Given the description of an element on the screen output the (x, y) to click on. 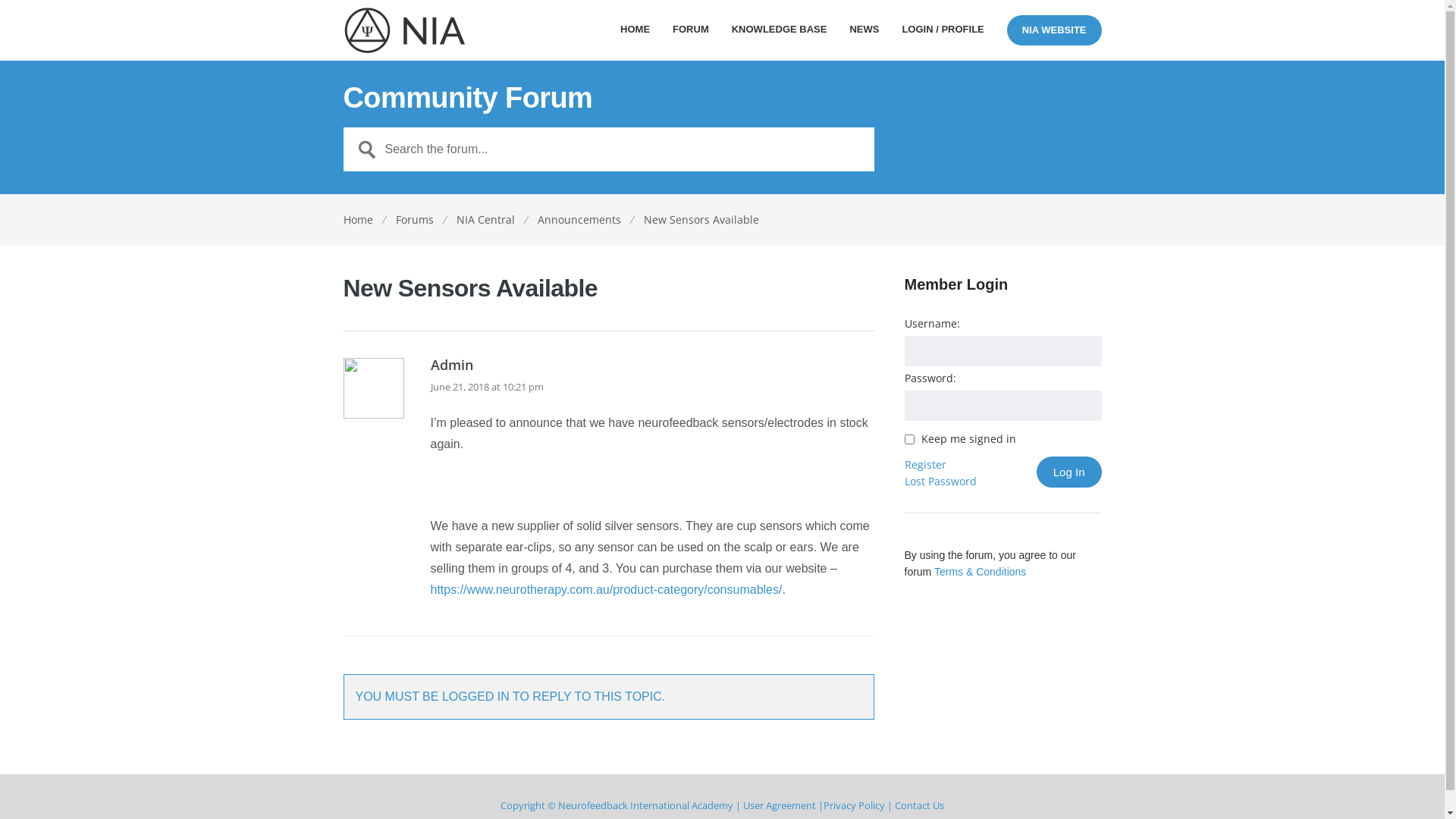
Register Element type: text (924, 464)
Forum Element type: hover (403, 30)
User Agreement Element type: text (779, 805)
View Admin's profile Element type: hover (372, 414)
HOME Element type: text (634, 35)
LOGIN / PROFILE Element type: text (942, 35)
Admin Element type: text (652, 374)
Forums Element type: text (414, 219)
Announcements Element type: text (578, 219)
NIA Central Element type: text (485, 219)
Home Element type: text (357, 219)
Lost Password Element type: text (939, 481)
NIA WEBSITE Element type: text (1054, 30)
Privacy Policy Element type: text (853, 805)
Terms & Conditions Element type: text (980, 571)
NEWS Element type: text (863, 35)
FORUM Element type: text (690, 35)
June 21, 2018 at 10:21 pm Element type: text (486, 385)
Contact Us Element type: text (919, 805)
KNOWLEDGE BASE Element type: text (779, 35)
Log In Element type: text (1068, 471)
